Given the description of an element on the screen output the (x, y) to click on. 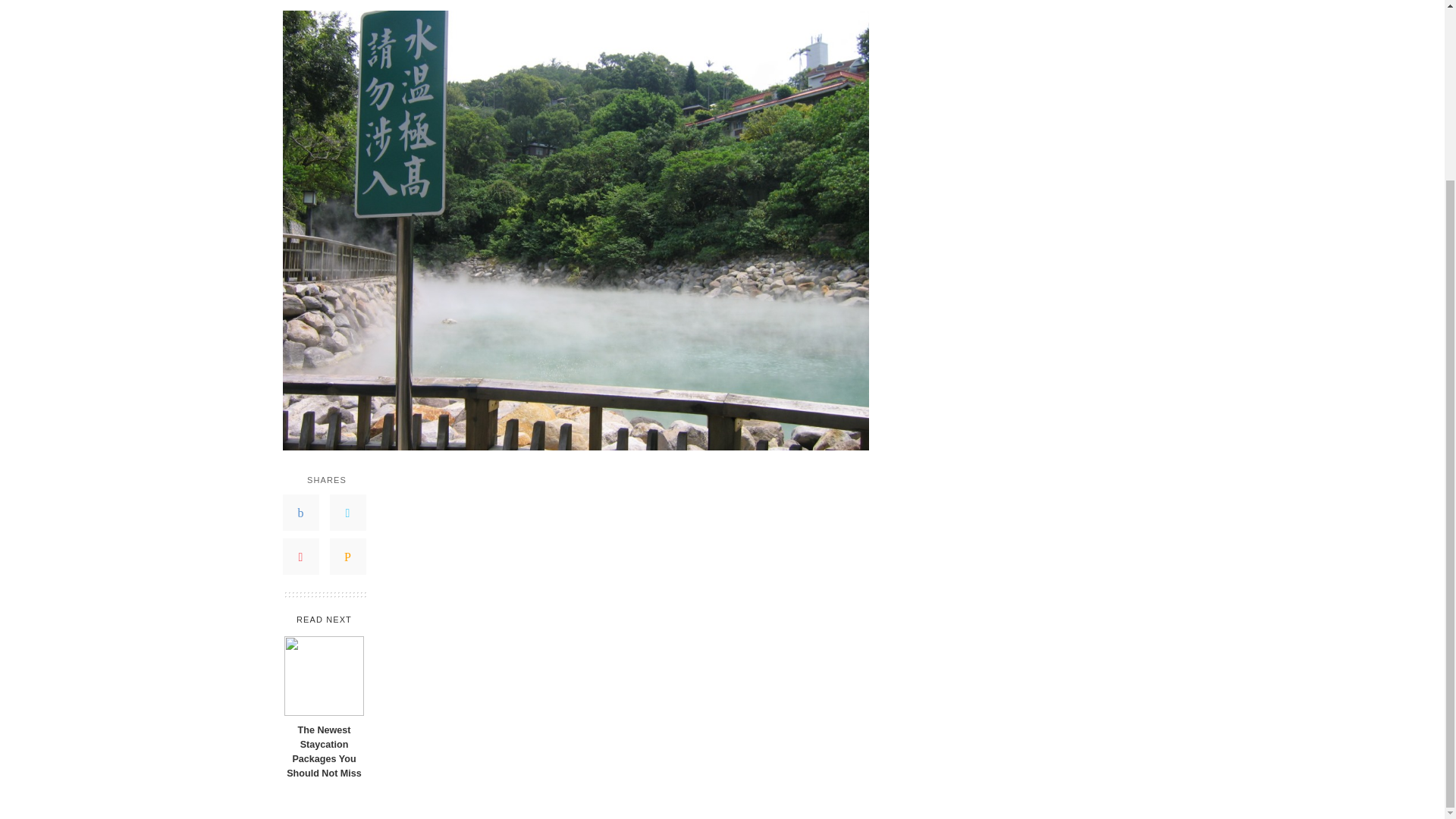
Facebook (300, 512)
Twitter (347, 512)
Email (347, 556)
Pinterest (300, 556)
